Given the description of an element on the screen output the (x, y) to click on. 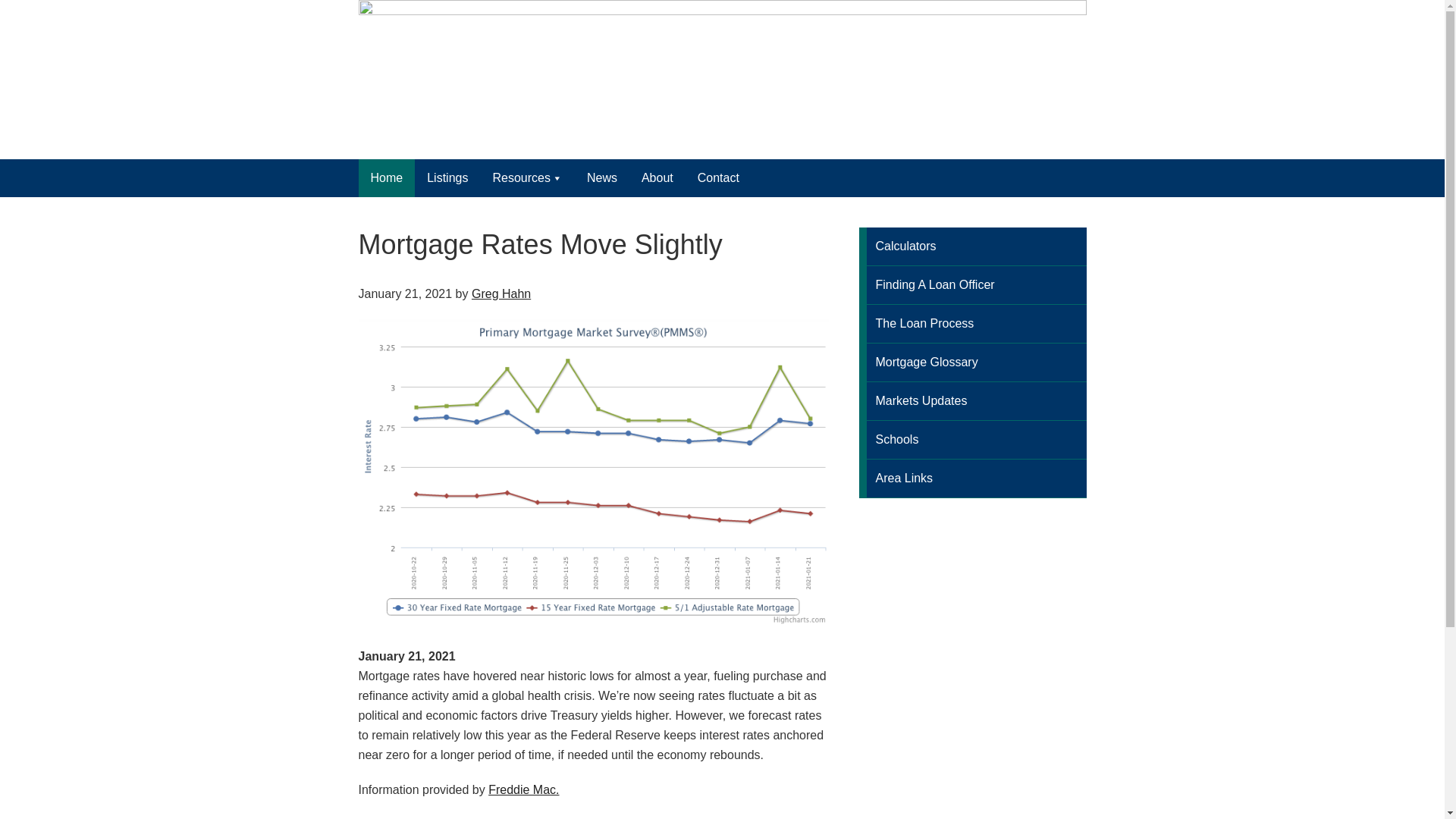
Markets Updates (972, 401)
Contact (718, 177)
The Loan Process (972, 323)
Resources (526, 177)
Freddie Mac. (523, 789)
News (601, 177)
About (656, 177)
Schools (972, 439)
Greg Hahn (501, 293)
Listings (447, 177)
